Given the description of an element on the screen output the (x, y) to click on. 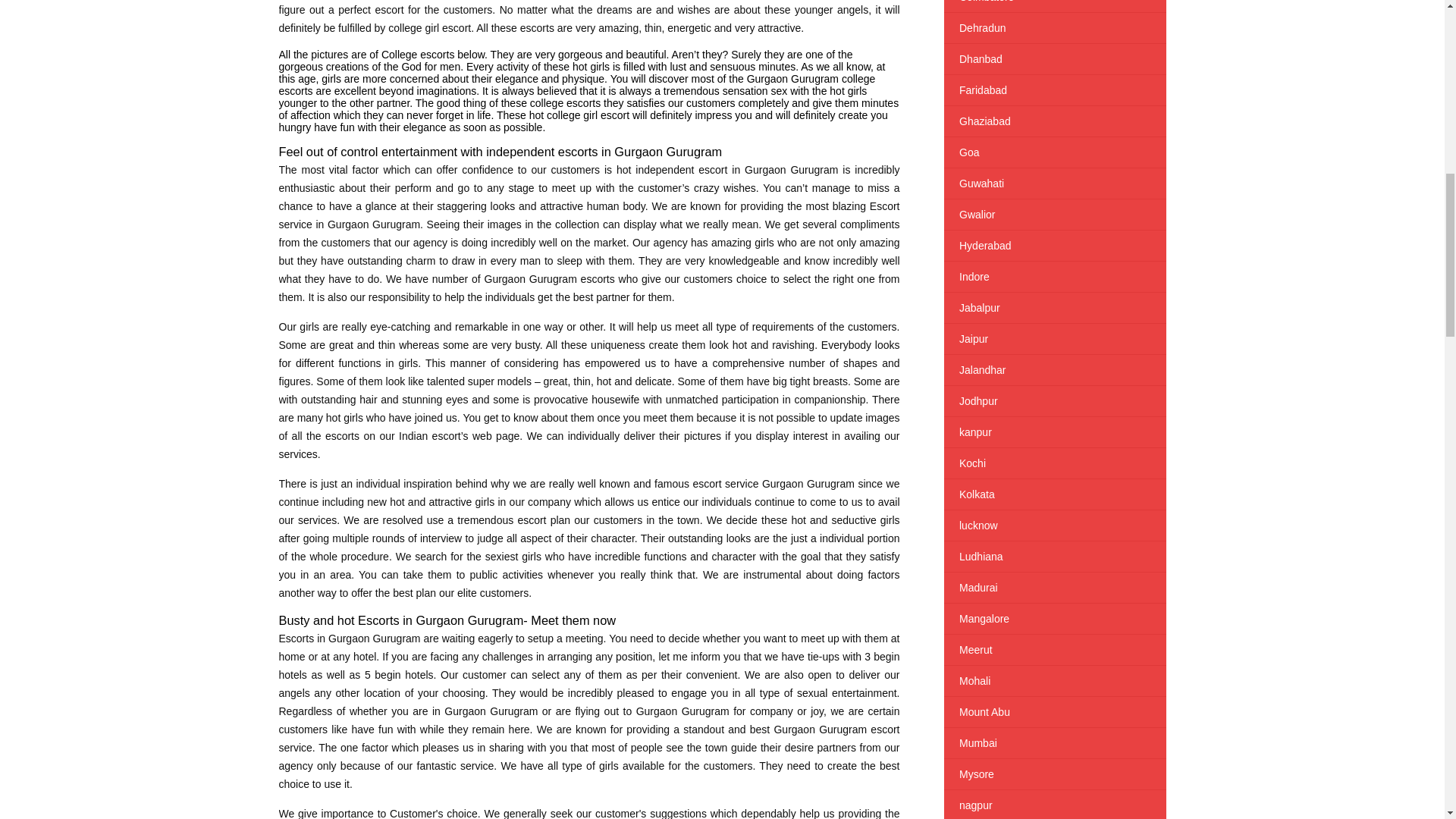
Faridabad (1054, 90)
Ghaziabad (1054, 121)
Dhanbad (1054, 59)
Coimbatore (1054, 6)
Dehradun (1054, 28)
